Given the description of an element on the screen output the (x, y) to click on. 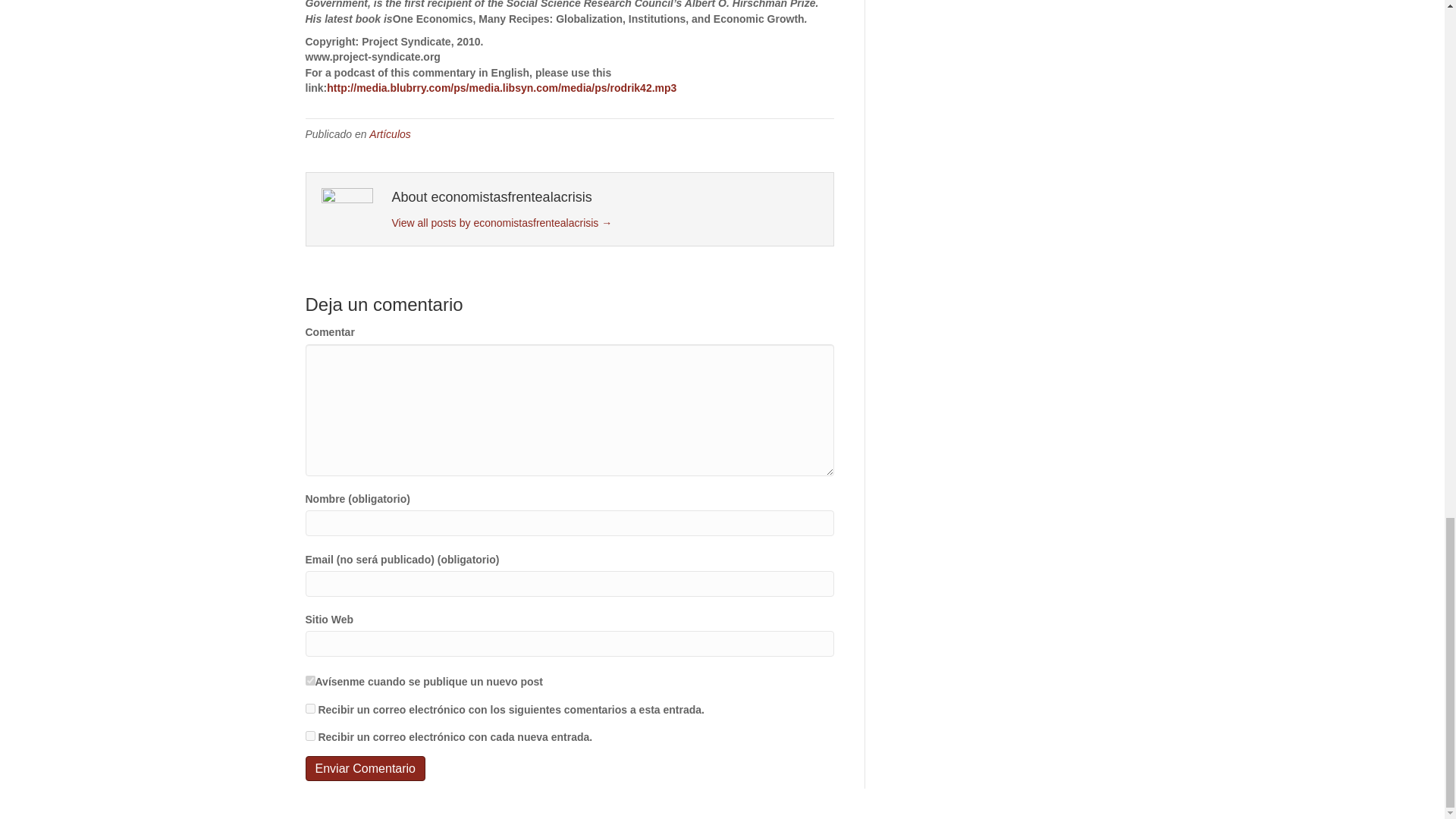
Enviar Comentario (364, 768)
subscribe (309, 708)
1 (309, 680)
subscribe (309, 736)
